Given the description of an element on the screen output the (x, y) to click on. 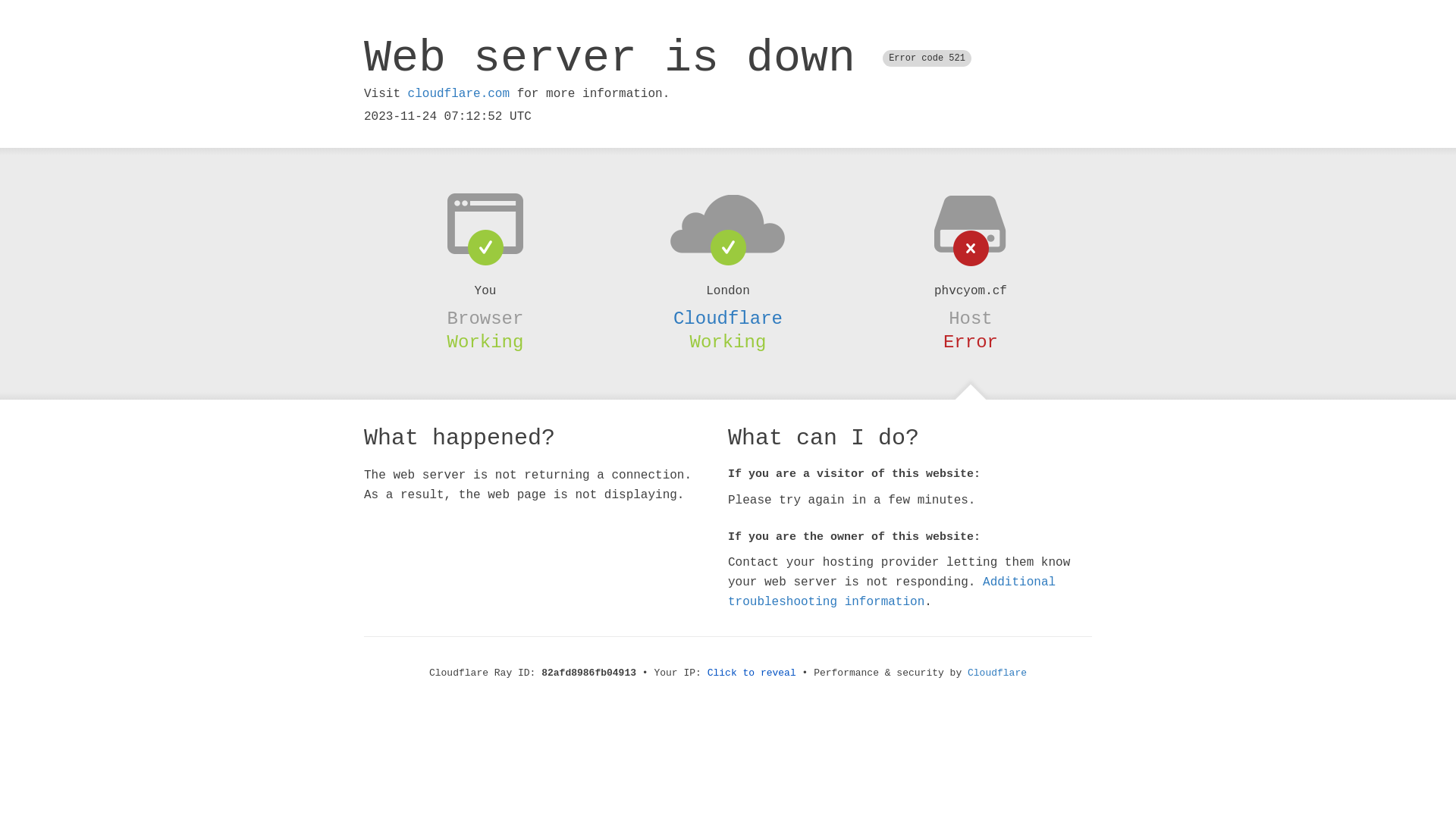
Cloudflare Element type: text (727, 318)
Additional troubleshooting information Element type: text (891, 591)
Cloudflare Element type: text (996, 672)
Click to reveal Element type: text (751, 672)
cloudflare.com Element type: text (458, 93)
